Given the description of an element on the screen output the (x, y) to click on. 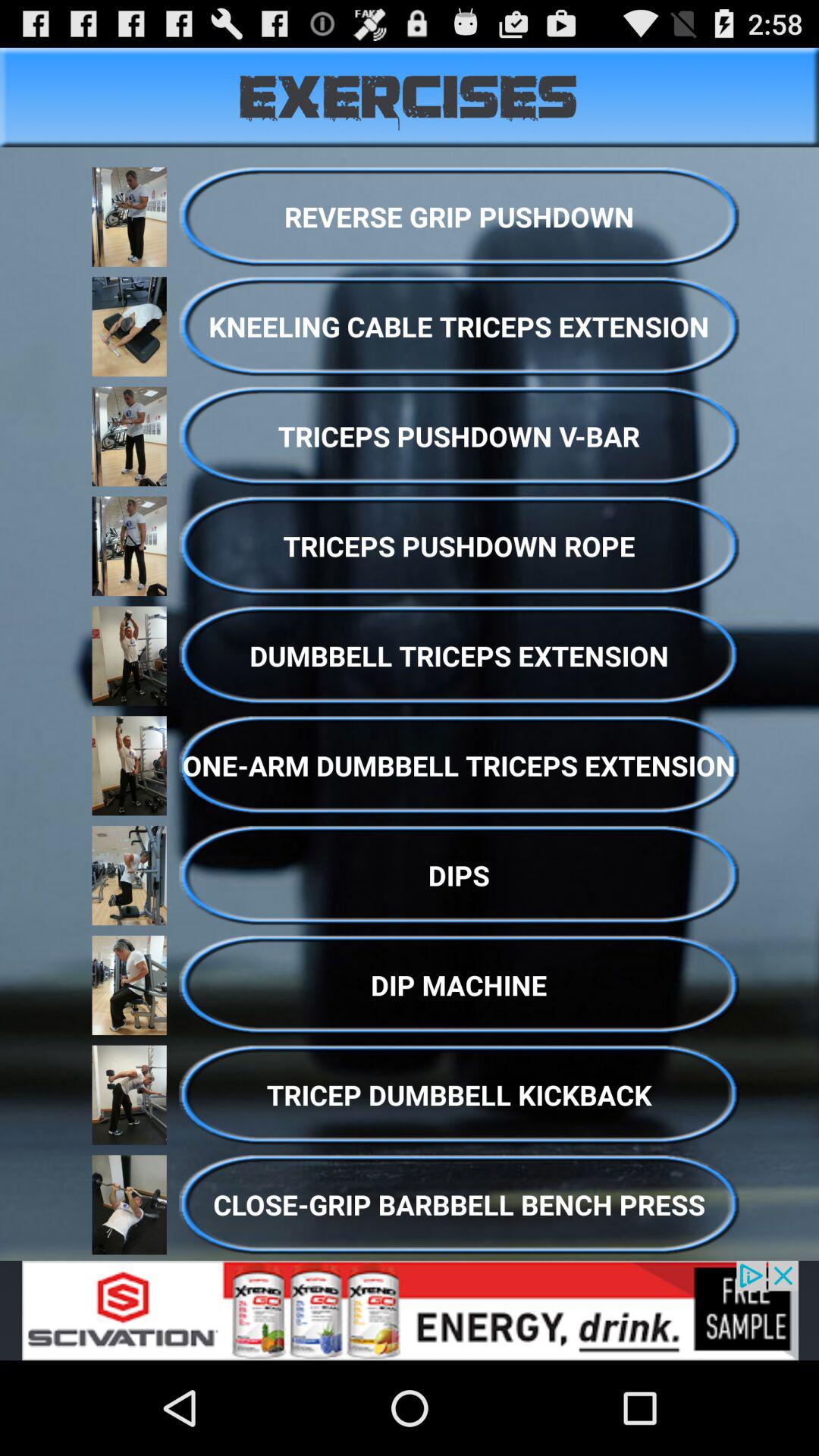
advertisement page (409, 1310)
